Given the description of an element on the screen output the (x, y) to click on. 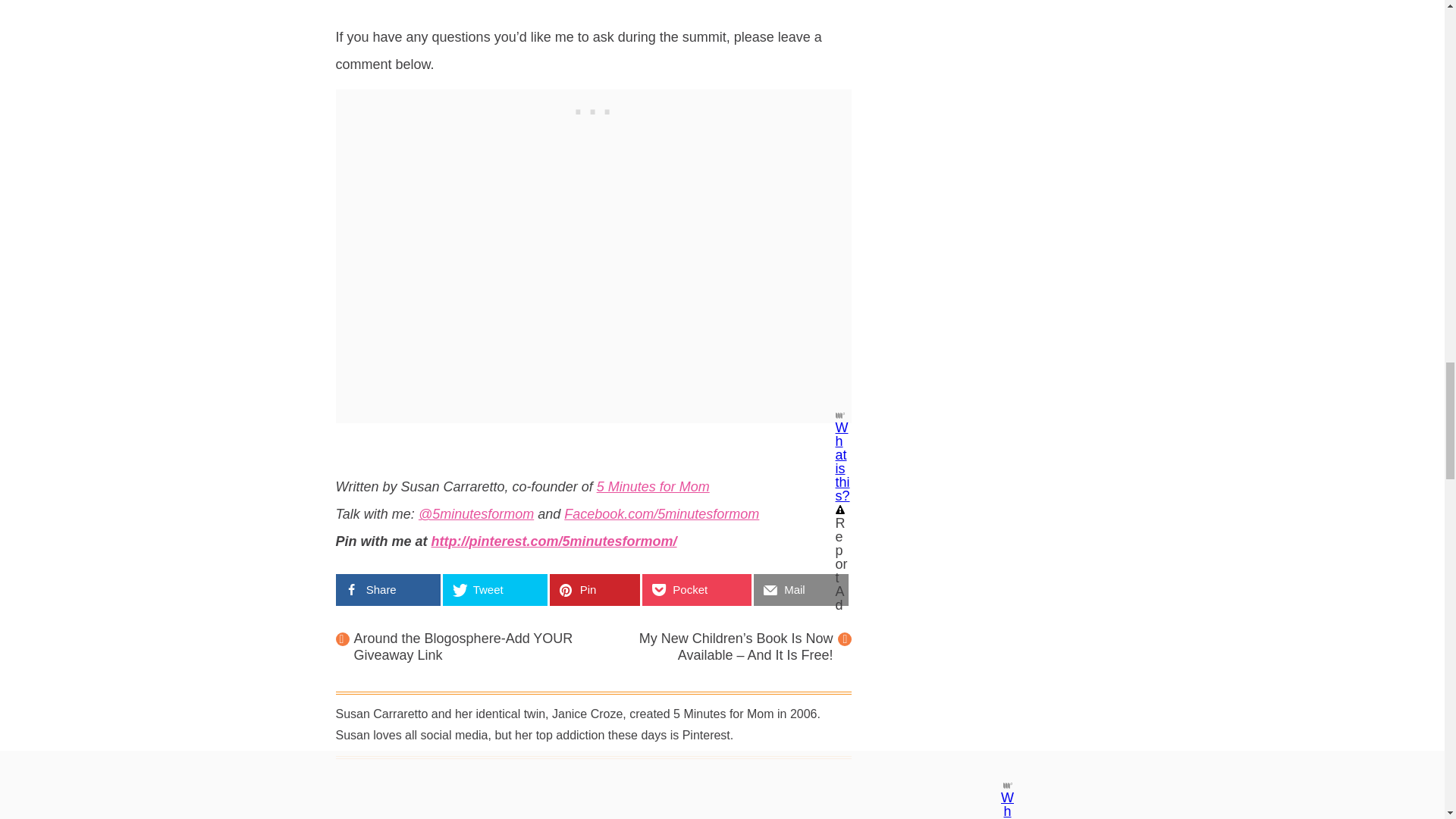
3rd party ad content (592, 108)
